Given the description of an element on the screen output the (x, y) to click on. 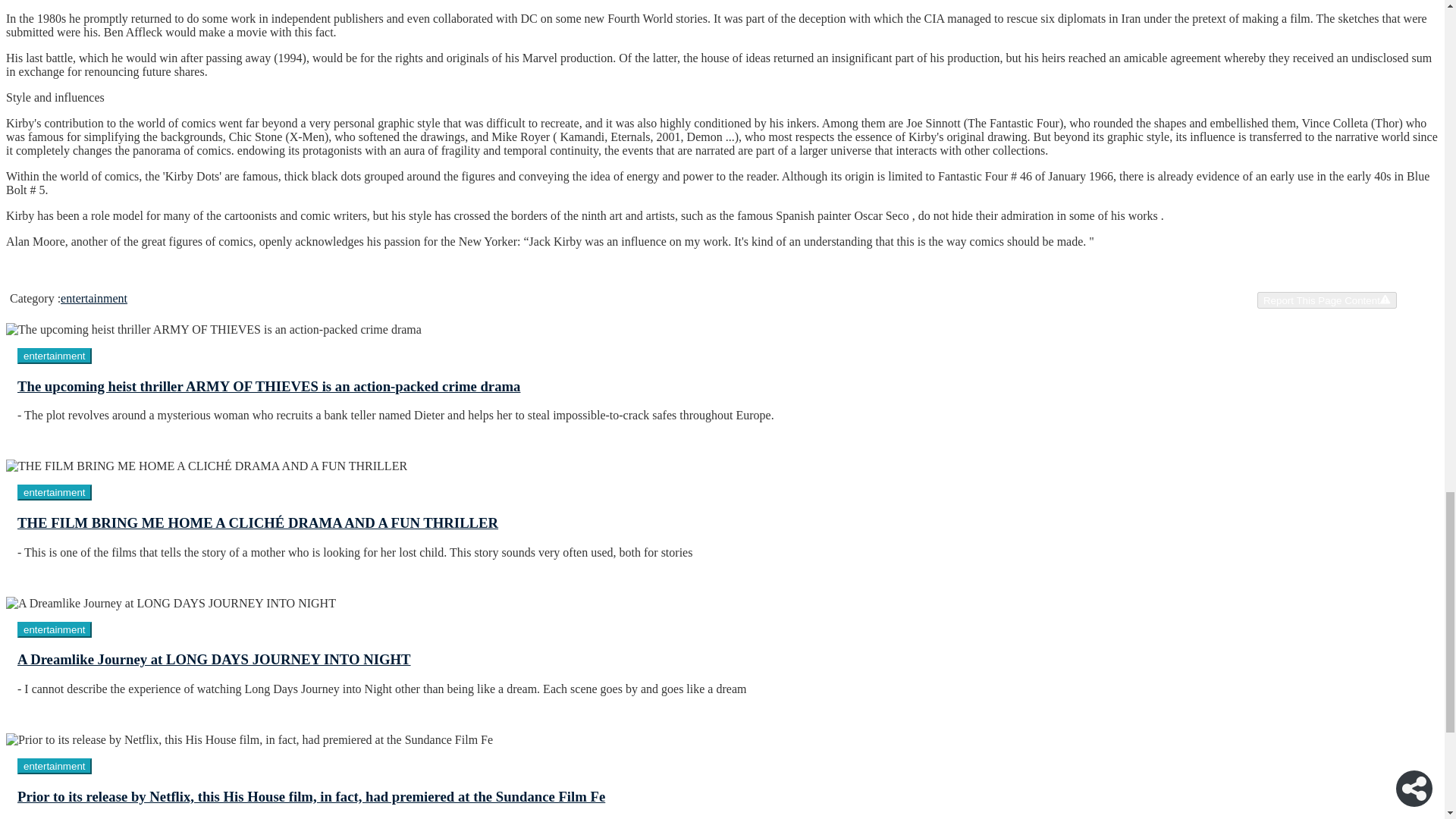
entertainment (54, 354)
Report This Page Content (1326, 300)
entertainment (54, 629)
entertainment (54, 628)
entertainment (54, 355)
entertainment (94, 297)
A Dreamlike Journey at LONG DAYS JOURNEY INTO NIGHT (721, 674)
entertainment (54, 492)
entertainment (54, 765)
Report This Page Content (1326, 299)
entertainment (54, 765)
entertainment (54, 491)
